Given the description of an element on the screen output the (x, y) to click on. 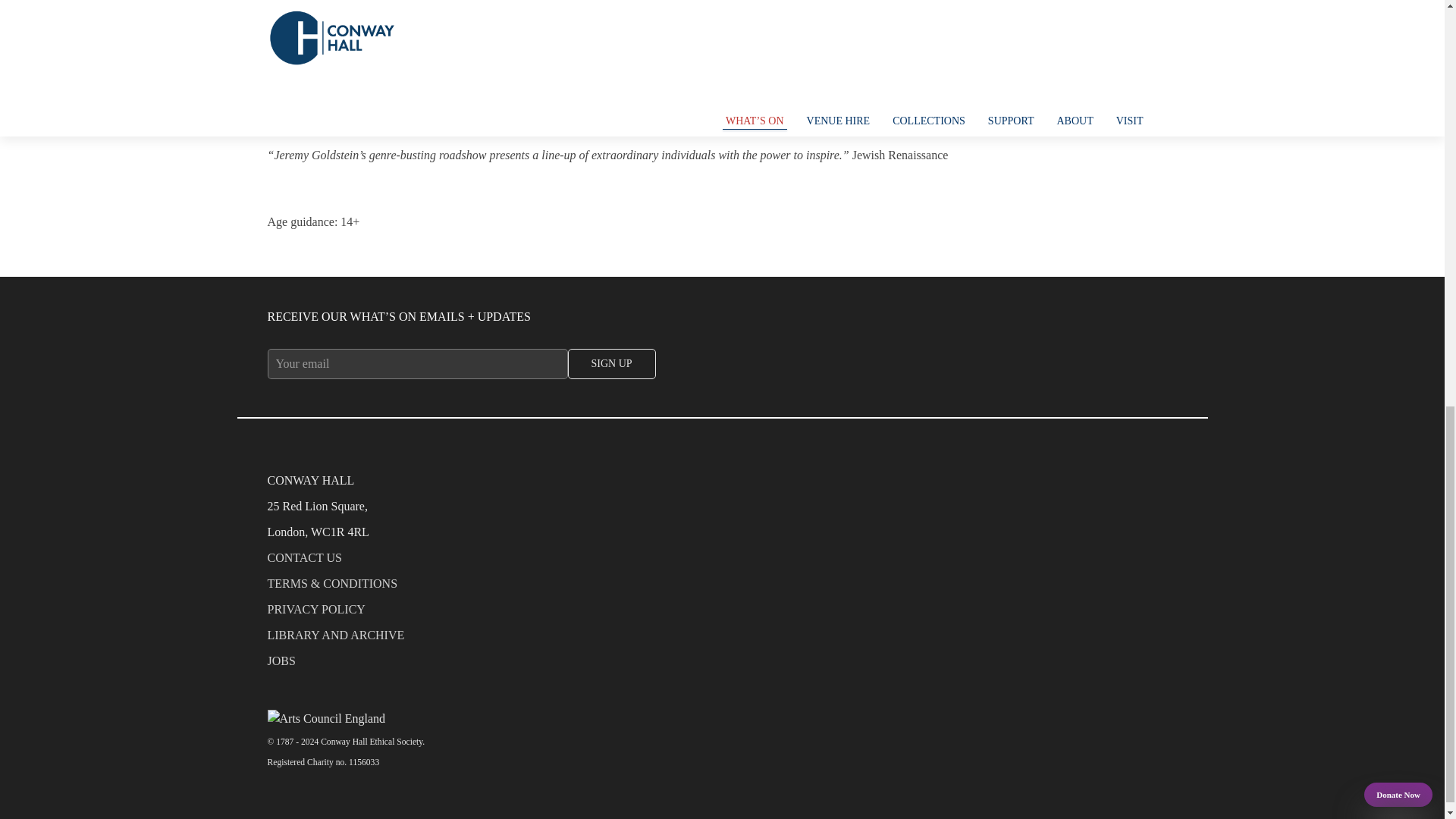
Sign Up (611, 363)
Sign Up (611, 363)
LIBRARY AND ARCHIVE (721, 638)
JOBS (721, 664)
PRIVACY POLICY (721, 613)
CONTACT US (721, 561)
